Given the description of an element on the screen output the (x, y) to click on. 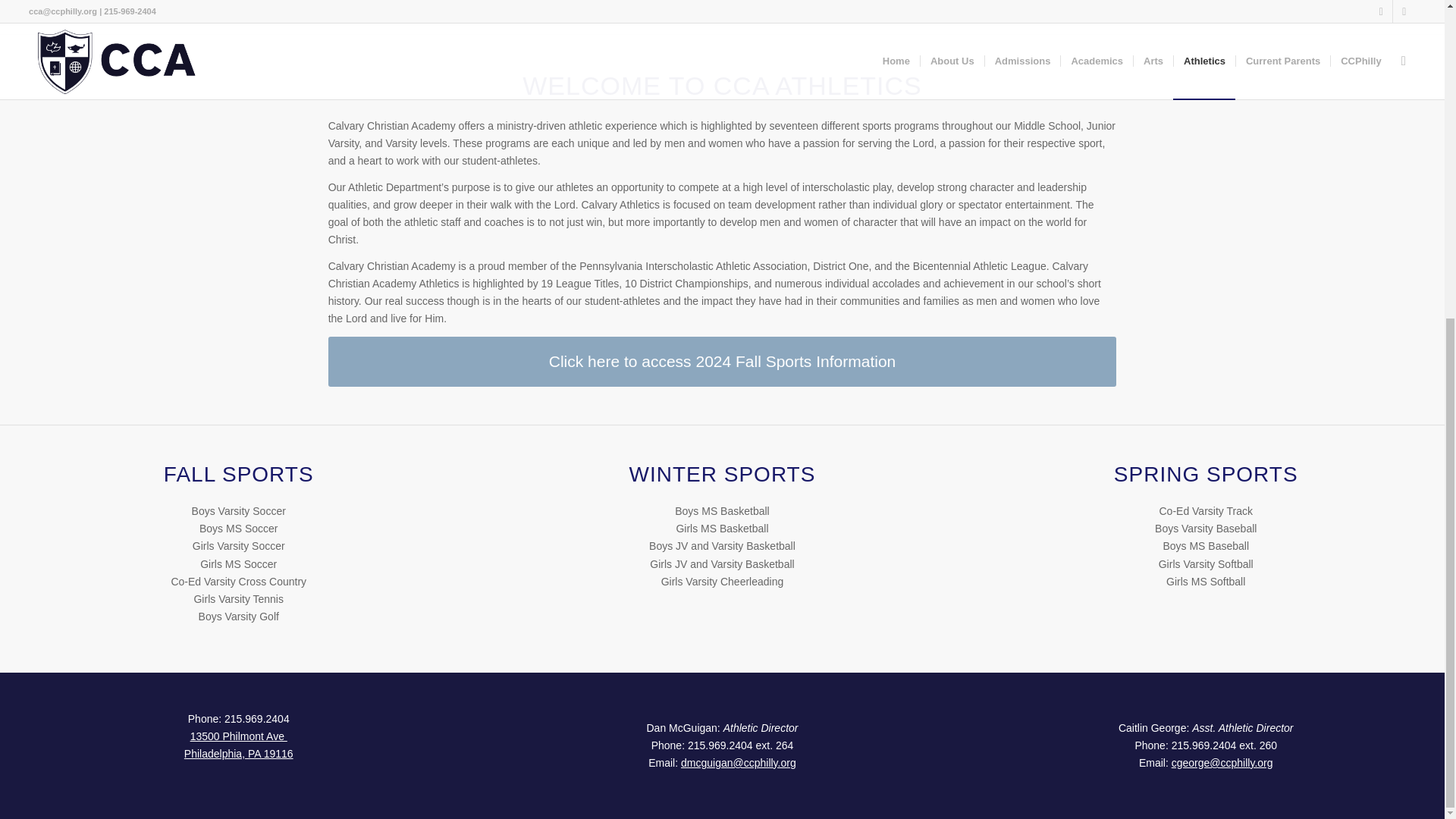
Athletics Home (499, 14)
Athletic Guidelines And Forms (618, 14)
